Given the description of an element on the screen output the (x, y) to click on. 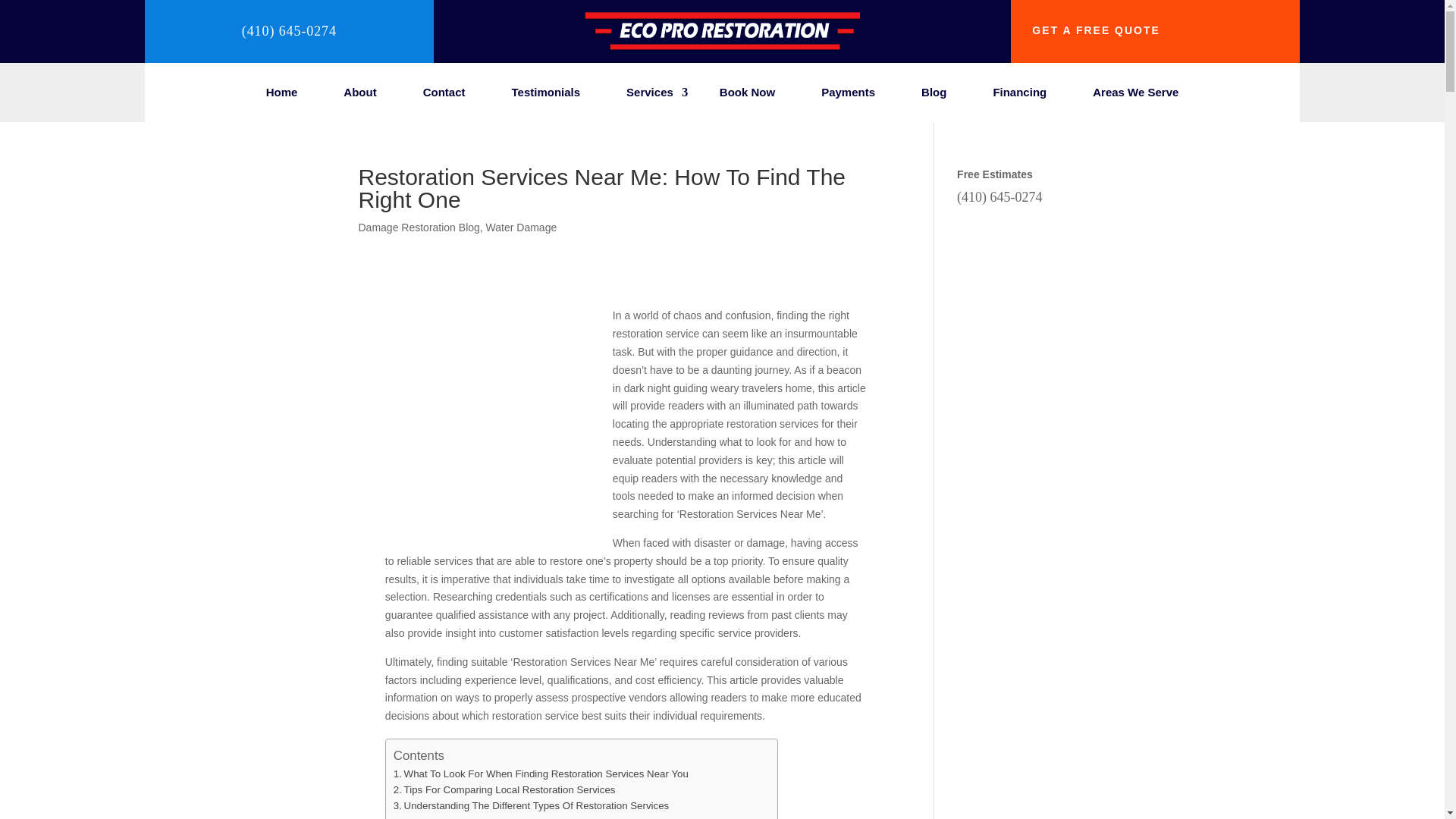
Understanding The Different Types Of Restoration Services (530, 805)
Testimonials (545, 95)
Blog (933, 95)
What To Look For When Finding Restoration Services Near You (540, 773)
Payments (847, 95)
Eco-Pro-New-Logo-2 (722, 46)
What To Look For When Finding Restoration Services Near You (540, 773)
Contact (443, 95)
Financing (1019, 95)
About (360, 95)
